Given the description of an element on the screen output the (x, y) to click on. 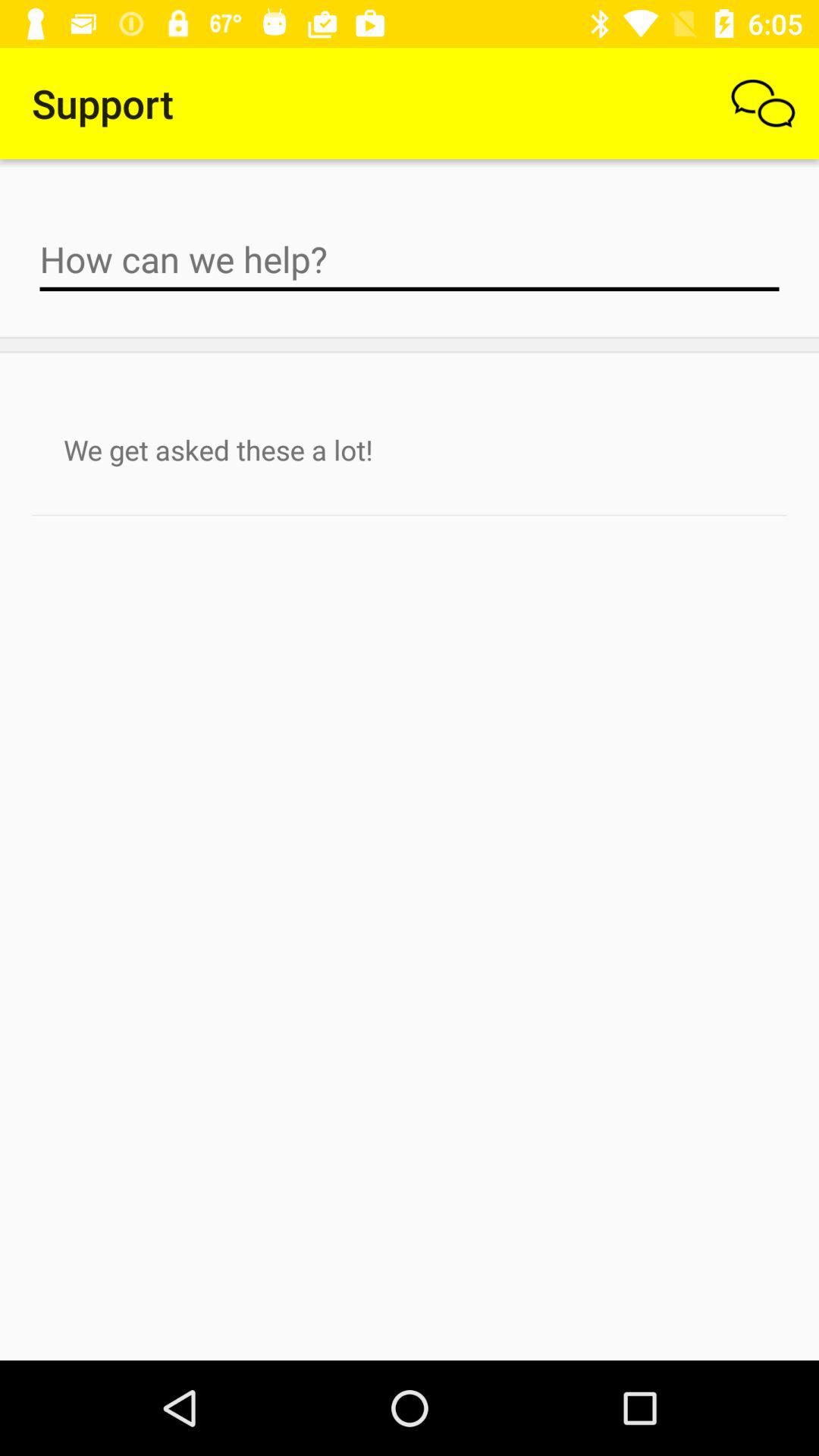
choose icon to the right of the support app (763, 103)
